Given the description of an element on the screen output the (x, y) to click on. 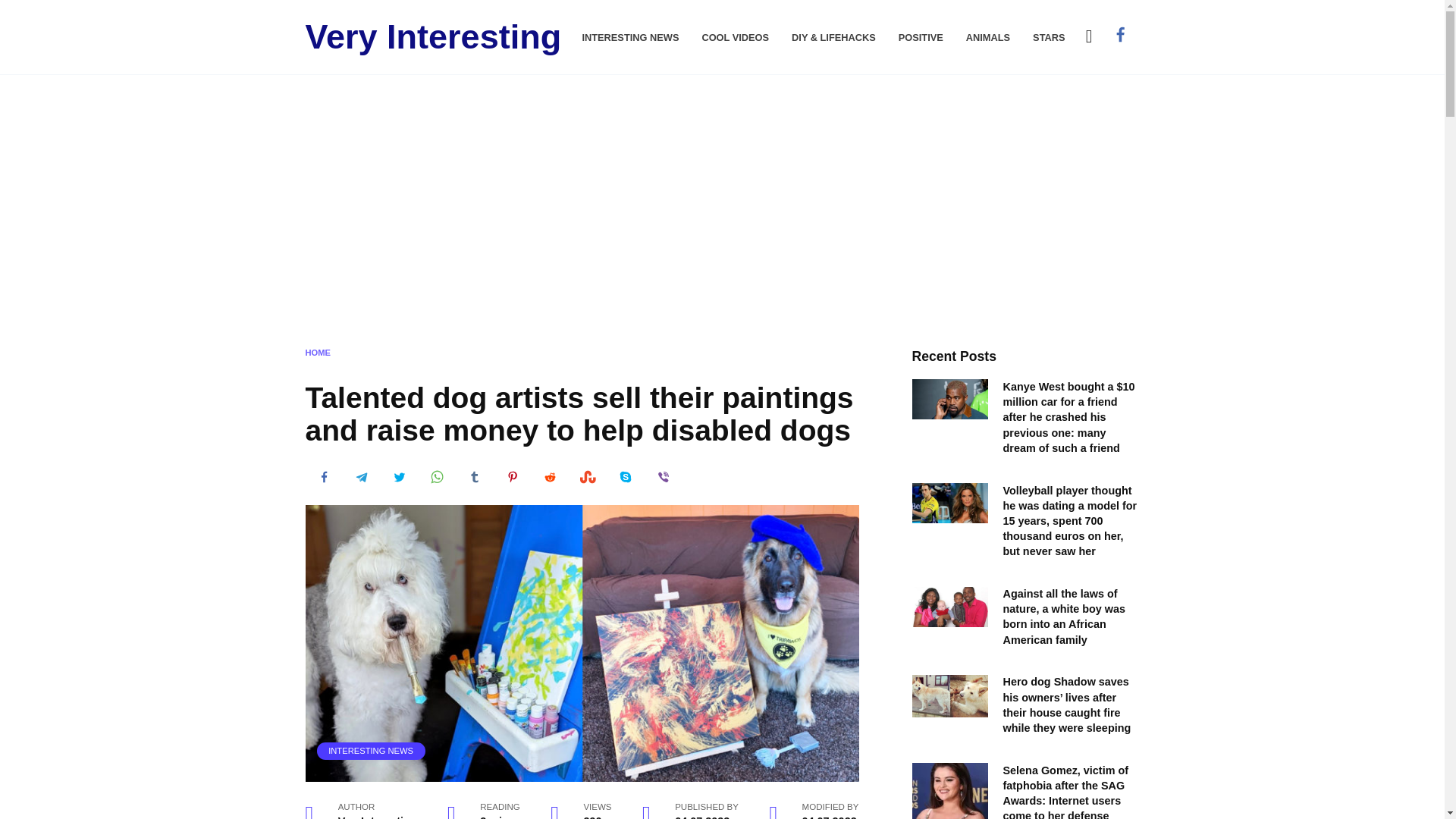
STARS (1048, 37)
ANIMALS (988, 37)
INTERESTING NEWS (629, 37)
COOL VIDEOS (734, 37)
HOME (317, 351)
POSITIVE (920, 37)
INTERESTING NEWS (371, 750)
Very Interesting (432, 36)
